Given the description of an element on the screen output the (x, y) to click on. 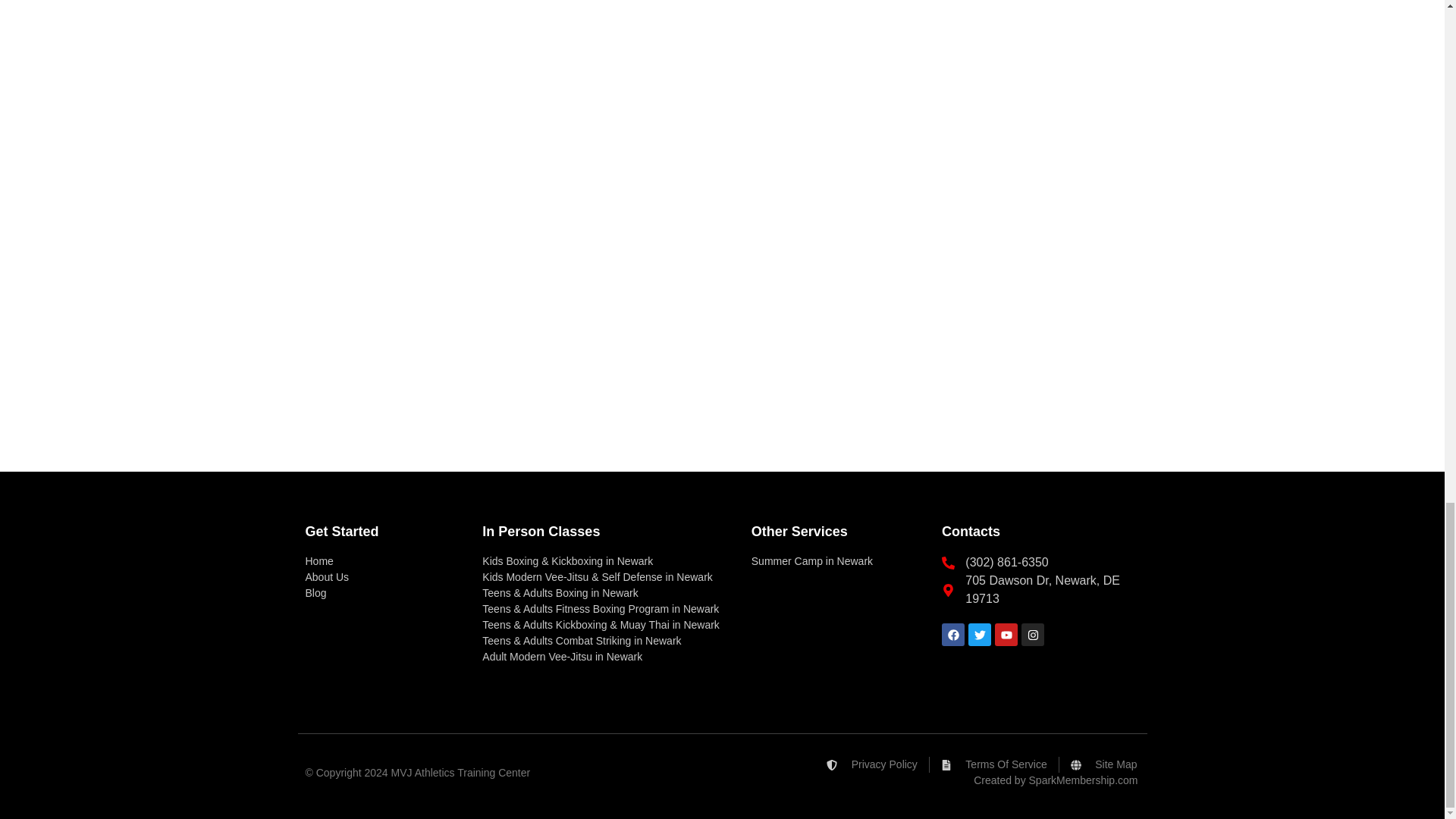
Privacy Policy (872, 764)
Adult Modern Vee-Jitsu in Newark (608, 657)
Created by SparkMembership.com (1055, 780)
Summer Camp in Newark (838, 561)
Blog (385, 593)
Home (385, 561)
Terms Of Service (993, 764)
Site Map (1103, 764)
About Us (385, 577)
